Given the description of an element on the screen output the (x, y) to click on. 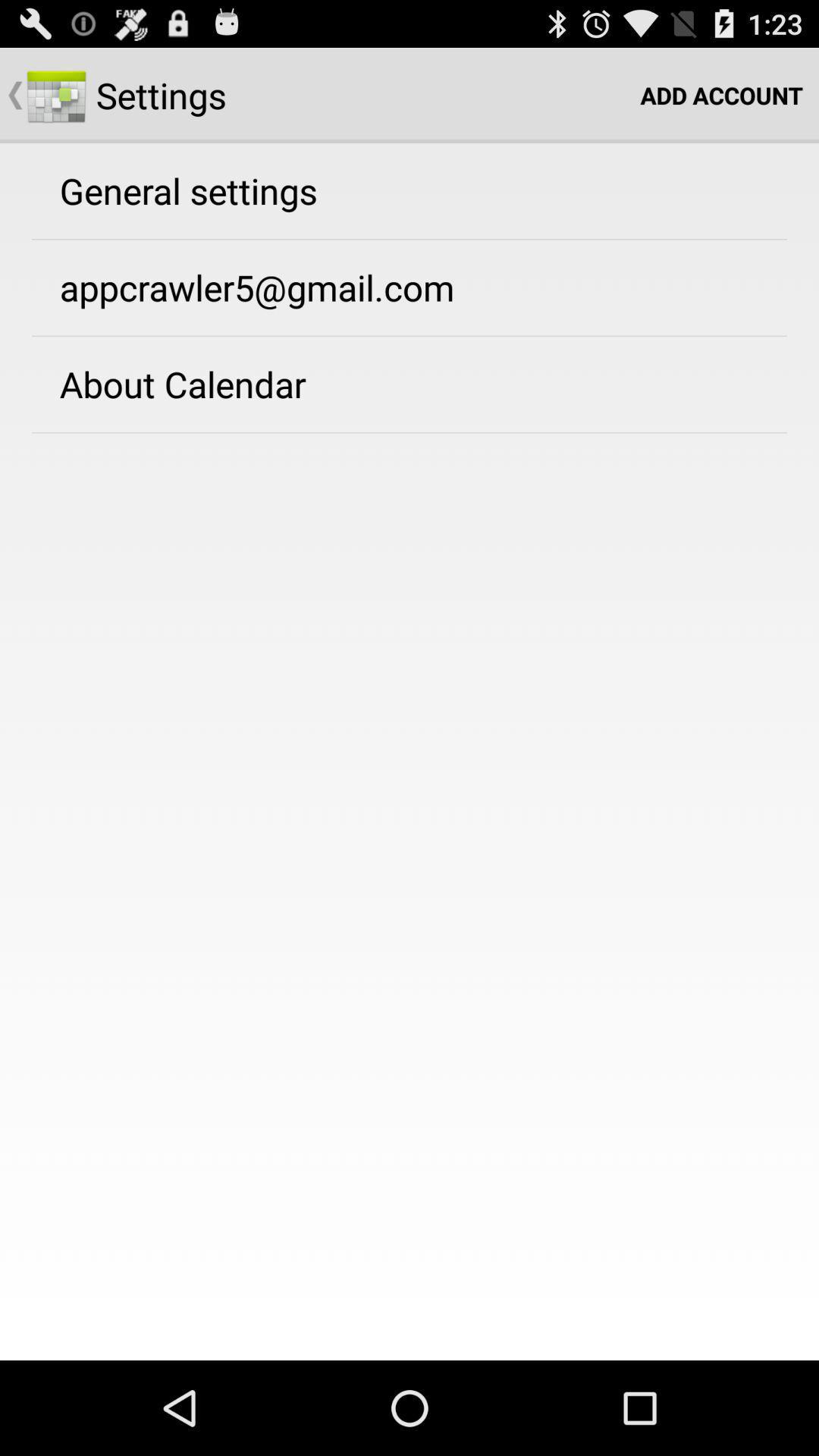
choose the general settings app (188, 190)
